Given the description of an element on the screen output the (x, y) to click on. 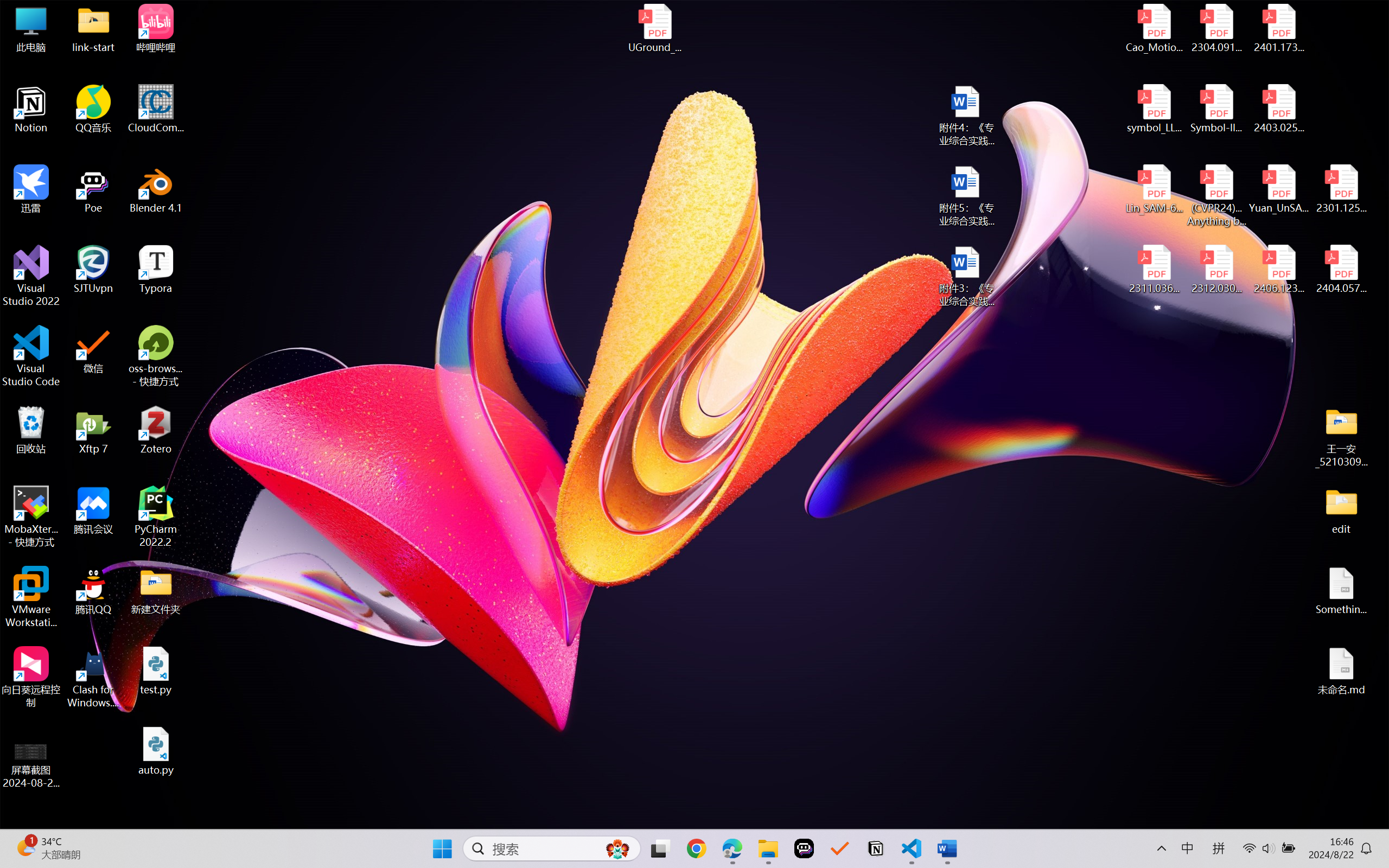
edit (1340, 510)
SJTUvpn (93, 269)
Blender 4.1 (156, 189)
VMware Workstation Pro (31, 597)
Google Chrome (696, 848)
Visual Studio Code (31, 355)
2401.17399v1.pdf (1278, 28)
